Given the description of an element on the screen output the (x, y) to click on. 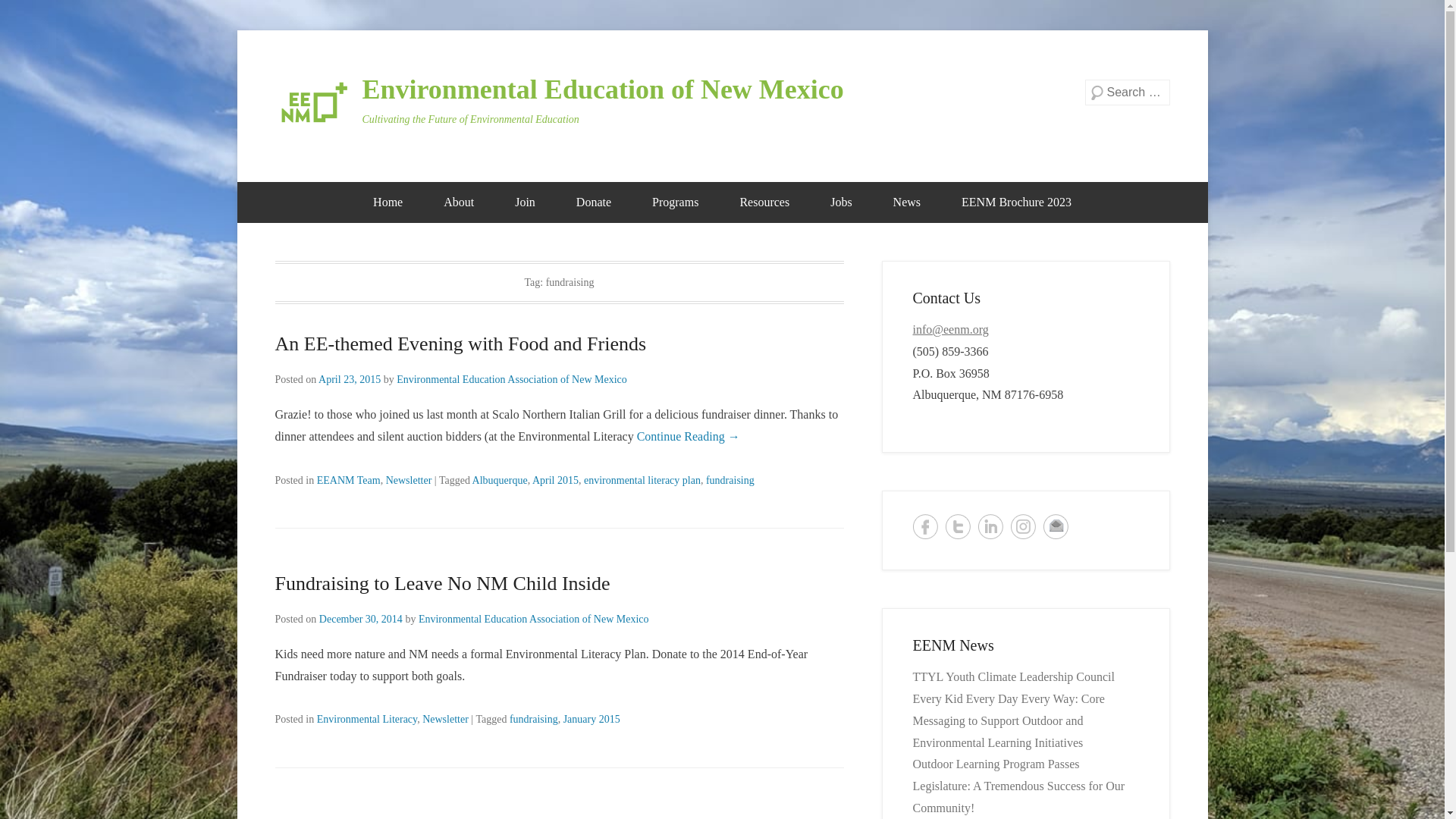
Instagram (1022, 526)
Permalink to Fundraising to Leave No NM Child Inside (442, 583)
Permalink to An EE-themed Evening with Food and Friends (460, 343)
Environmental Education of New Mexico (603, 89)
Join (525, 201)
Home (387, 201)
Twitter (956, 526)
Facebook (924, 526)
Donate (593, 201)
